Given the description of an element on the screen output the (x, y) to click on. 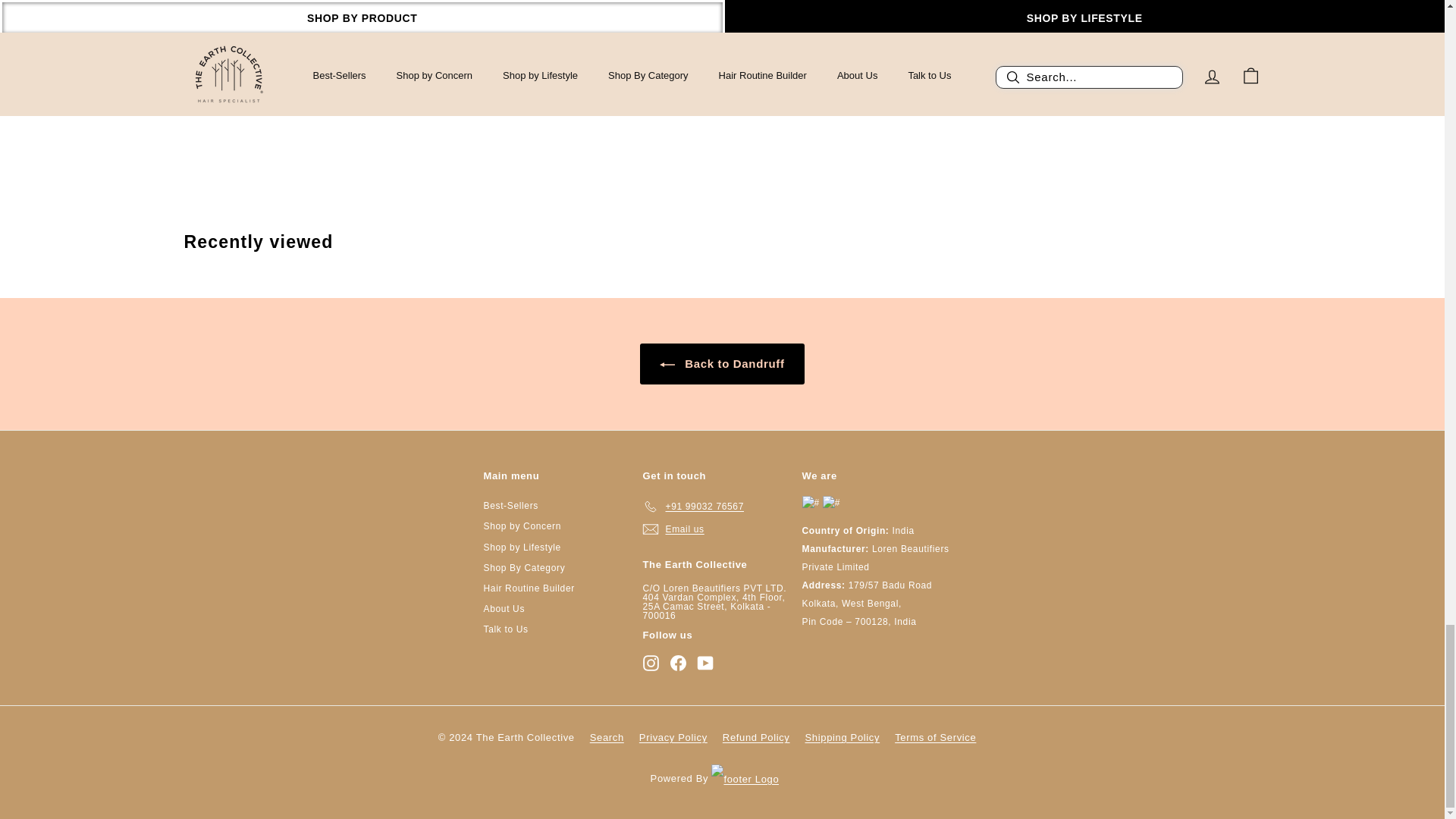
The Earth Collective on Facebook (677, 662)
The Earth Collective on YouTube (705, 662)
The Earth Collective on Instagram (651, 662)
